Given the description of an element on the screen output the (x, y) to click on. 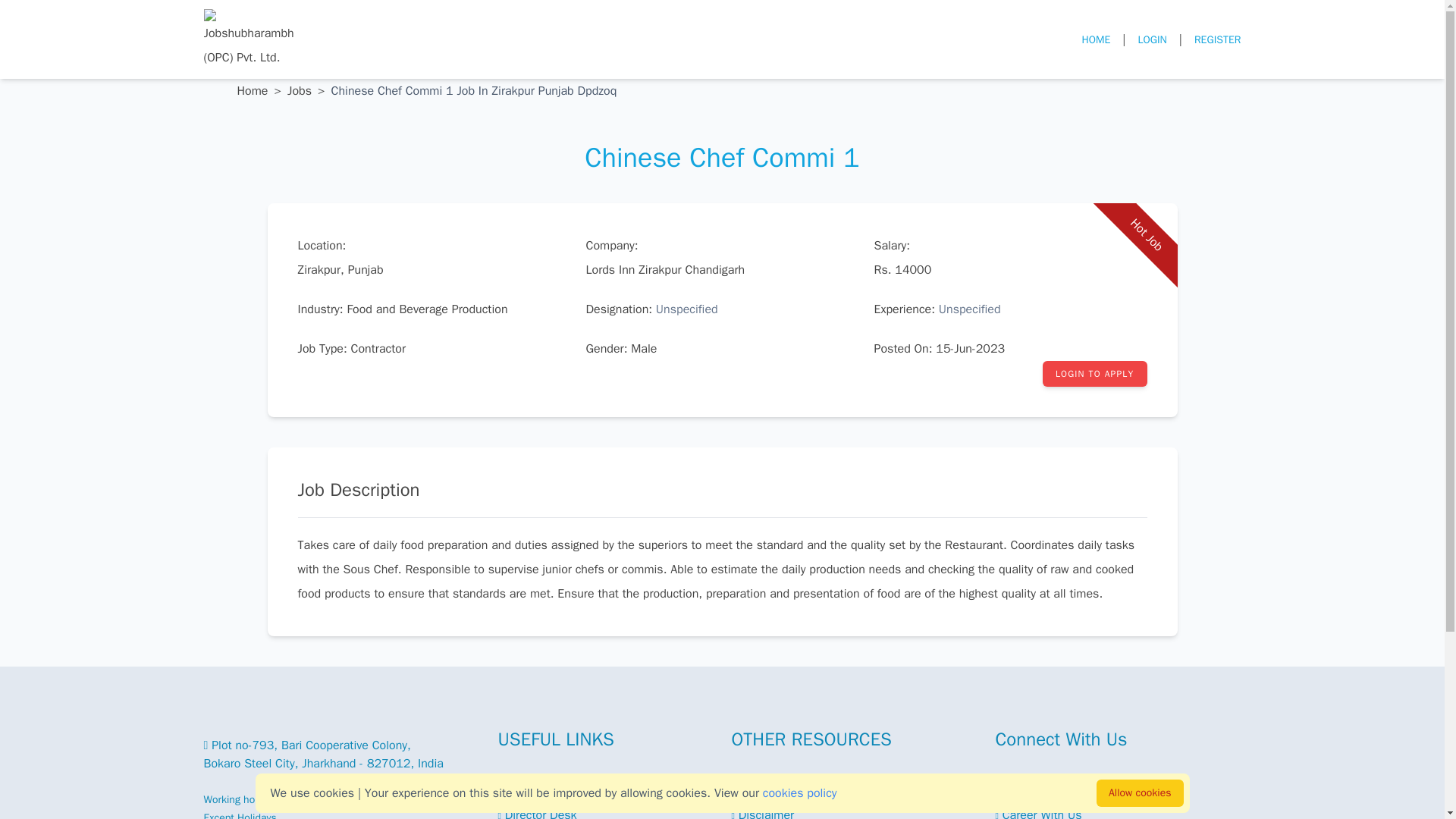
Advertise With Us (1044, 790)
LOGIN (1151, 39)
Director Desk (536, 813)
cookies policy (799, 792)
Jobs (298, 90)
Allow cookies (1139, 792)
REGISTER (1217, 39)
LOGIN TO APPLY (1094, 373)
Home (251, 90)
Disclaimer (761, 813)
